Given the description of an element on the screen output the (x, y) to click on. 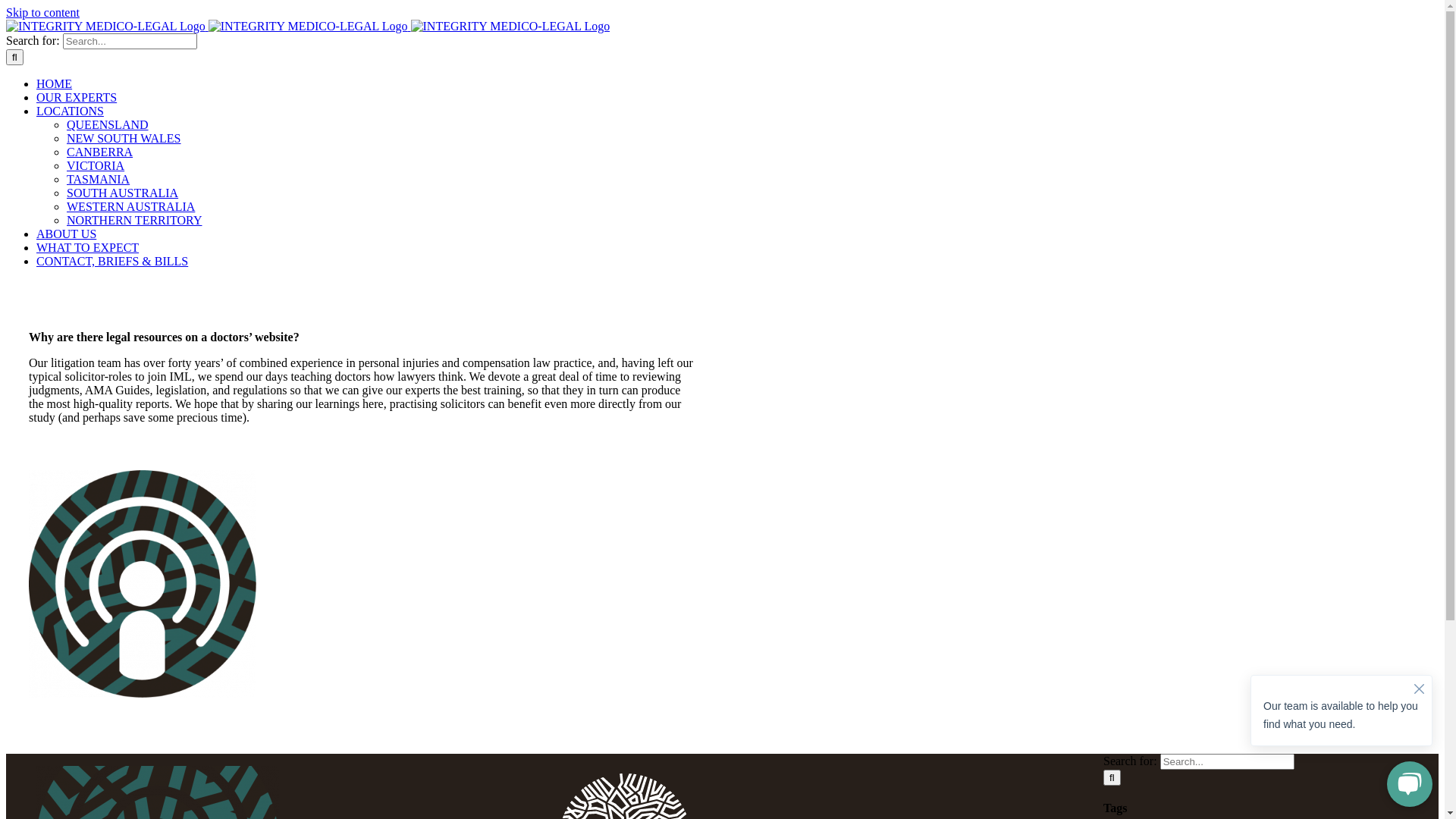
SOUTH AUSTRALIA Element type: text (122, 192)
WESTERN AUSTRALIA Element type: text (130, 206)
WHAT TO EXPECT Element type: text (87, 247)
podcast Element type: hover (142, 583)
HOME Element type: text (54, 83)
CANBERRA Element type: text (99, 151)
Skip to content Element type: text (42, 12)
TASMANIA Element type: text (97, 178)
NORTHERN TERRITORY Element type: text (133, 219)
ABOUT US Element type: text (66, 233)
LOCATIONS Element type: text (69, 110)
VICTORIA Element type: text (95, 165)
OUR EXPERTS Element type: text (76, 97)
NEW SOUTH WALES Element type: text (123, 137)
QUEENSLAND Element type: text (107, 124)
CONTACT, BRIEFS & BILLS Element type: text (112, 260)
